Given the description of an element on the screen output the (x, y) to click on. 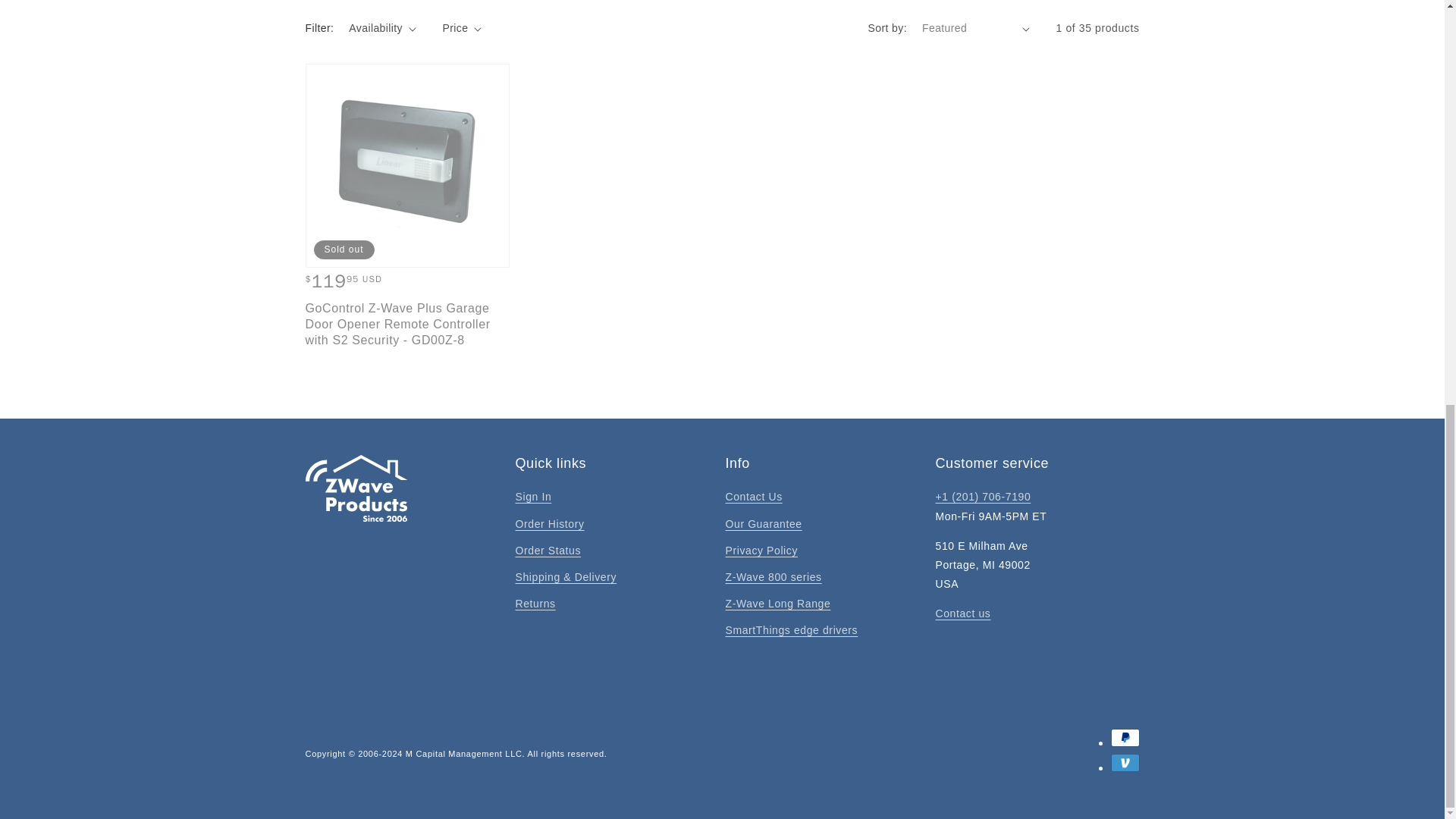
Venmo (1123, 762)
PayPal (1123, 737)
